Given the description of an element on the screen output the (x, y) to click on. 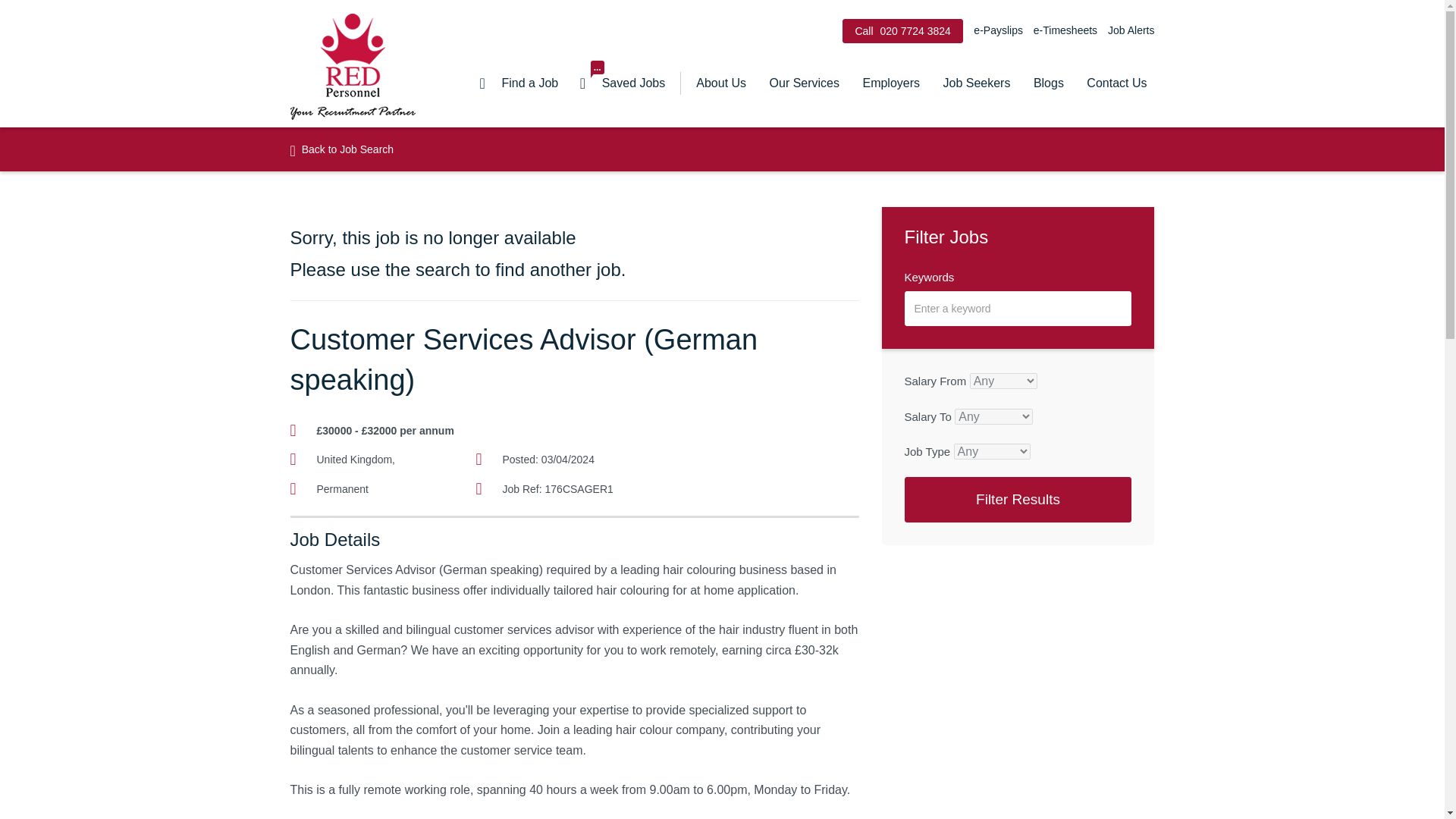
e-Payslips (995, 30)
Blogs (1048, 83)
Job Seekers (976, 83)
Contact Us (1115, 83)
Call 020 7724 3824 (902, 30)
e-Timesheets (1063, 30)
Our Services (623, 83)
Job Alerts (804, 83)
Employers (1127, 30)
Find a Job (890, 83)
About Us (518, 83)
